Given the description of an element on the screen output the (x, y) to click on. 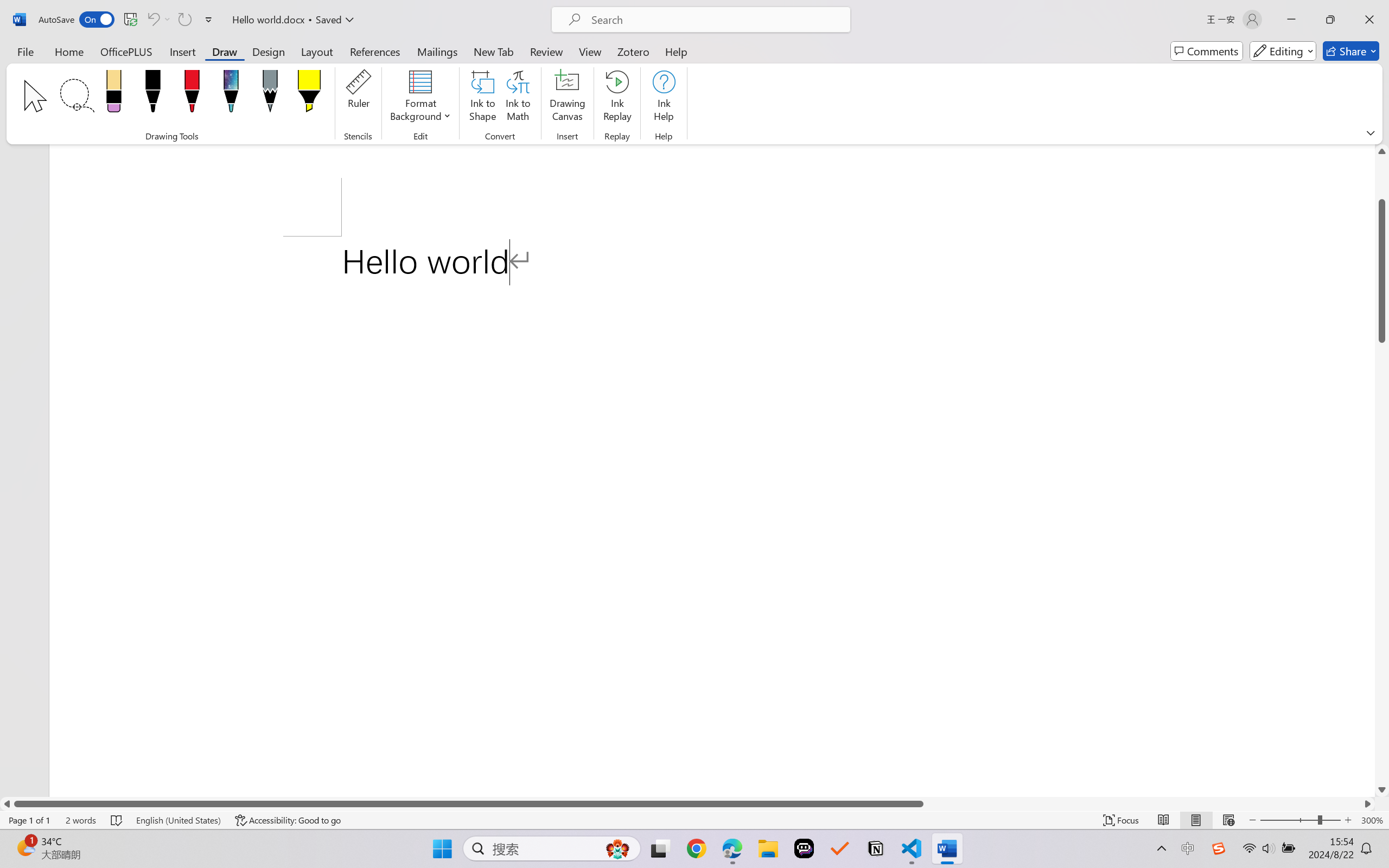
Draw (224, 51)
References (375, 51)
Ruler (358, 97)
Design (268, 51)
Zoom Out (1288, 819)
Mailings (437, 51)
OfficePLUS (126, 51)
Class: MsoCommandBar (694, 819)
Share (1350, 51)
Minimize (1291, 19)
Restore Down (1330, 19)
More Options (167, 19)
Drawing Canvas (567, 97)
Quick Access Toolbar (127, 19)
